Given the description of an element on the screen output the (x, y) to click on. 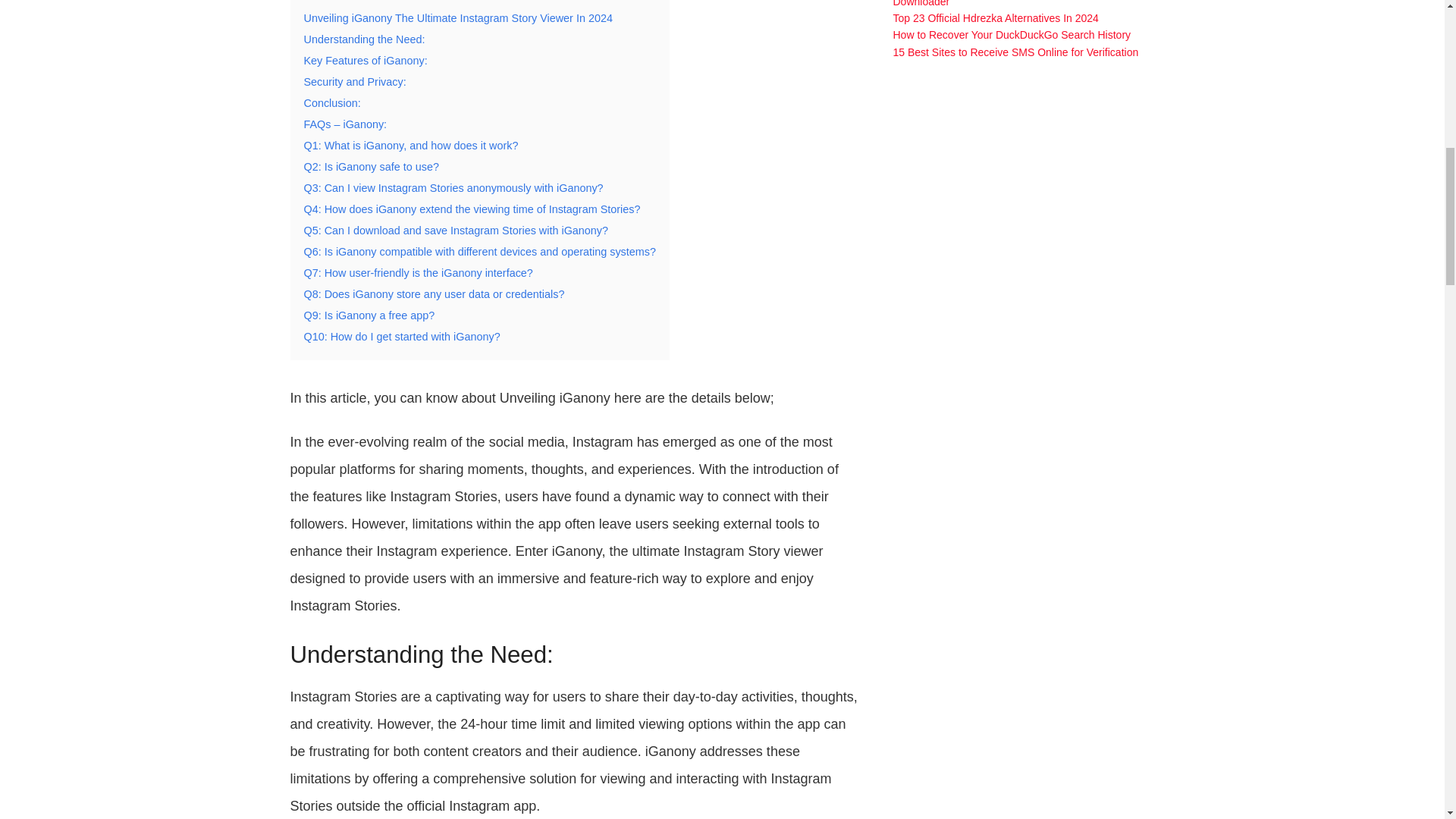
Understanding the Need: (363, 39)
